Given the description of an element on the screen output the (x, y) to click on. 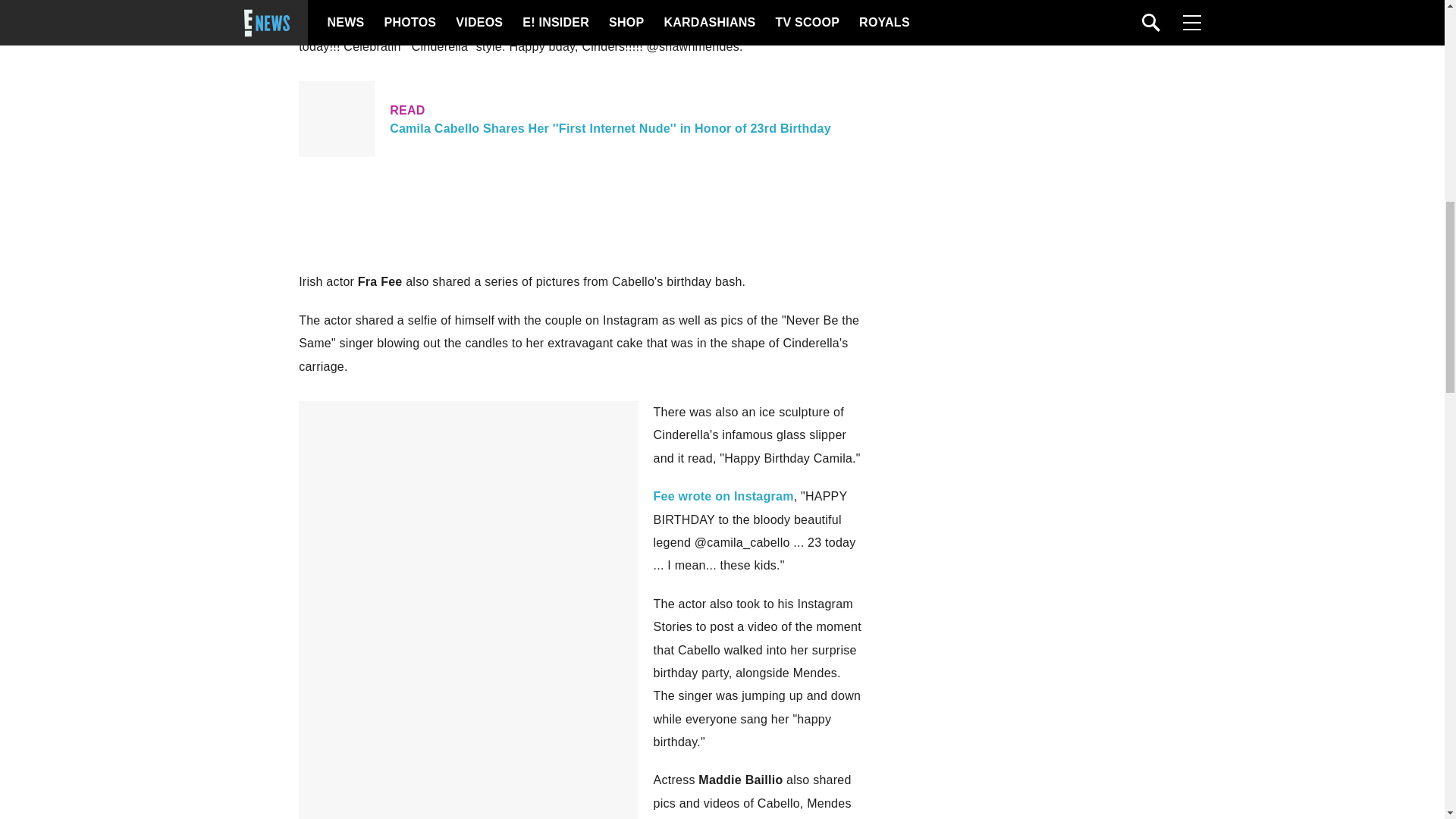
Fee wrote on Instagram (723, 495)
